Given the description of an element on the screen output the (x, y) to click on. 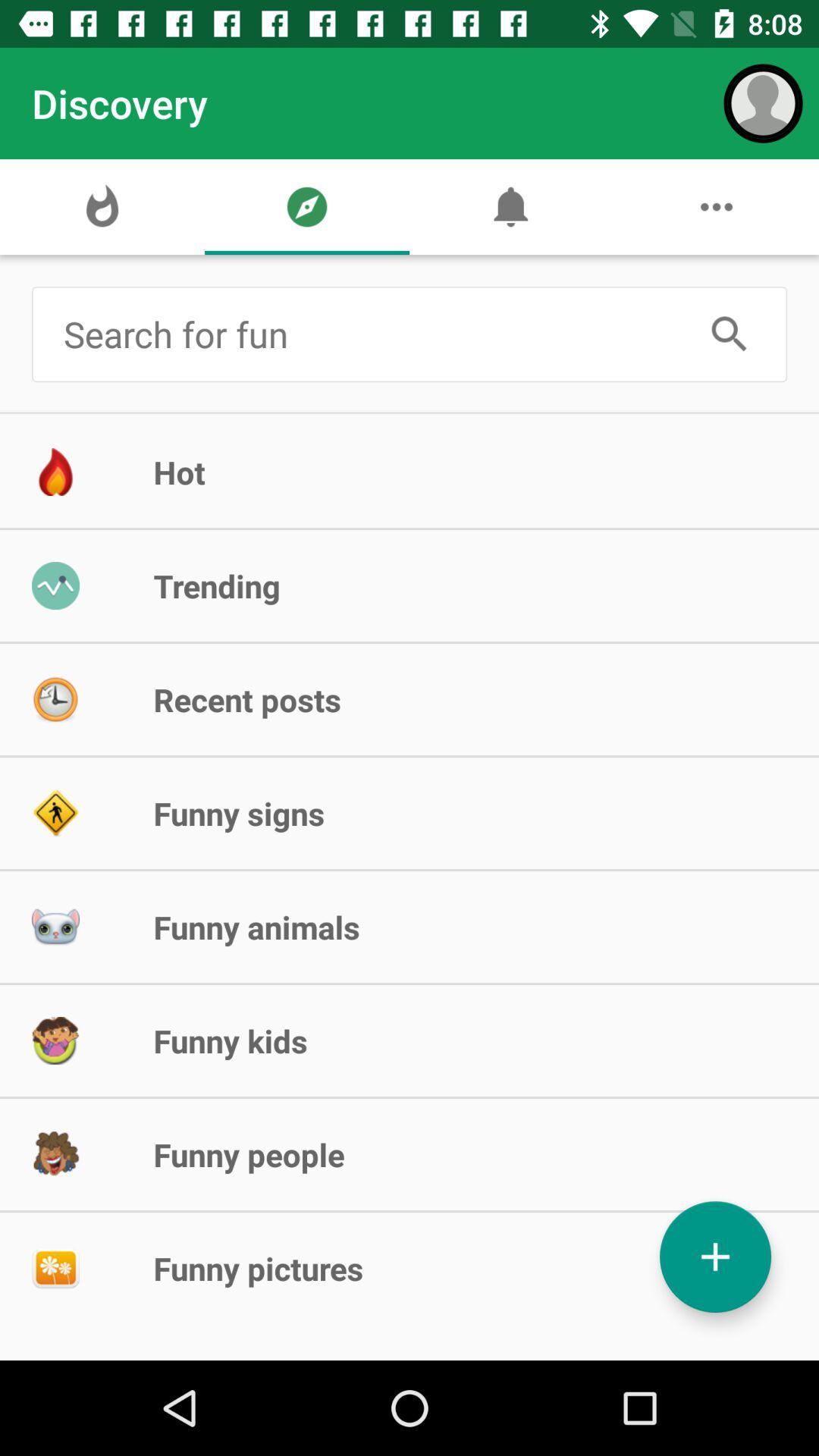
search for items (372, 333)
